Given the description of an element on the screen output the (x, y) to click on. 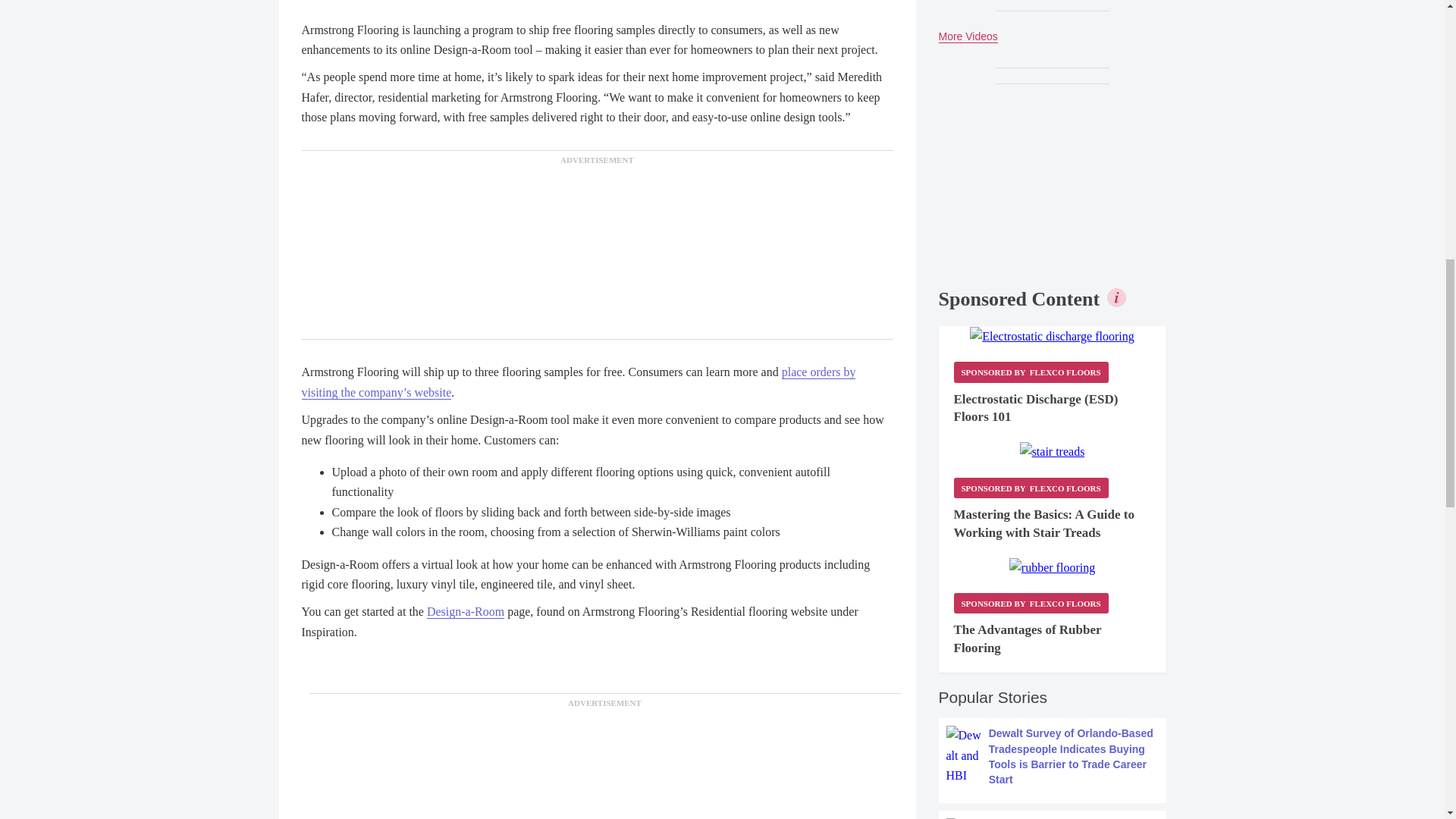
Sponsored by Flexco Floors (1030, 371)
stair treads (1052, 451)
rubber flooring (1051, 567)
Sponsored by Flexco Floors (1030, 602)
Sponsored by Flexco Floors (1030, 487)
ESD flooring (1051, 336)
